Given the description of an element on the screen output the (x, y) to click on. 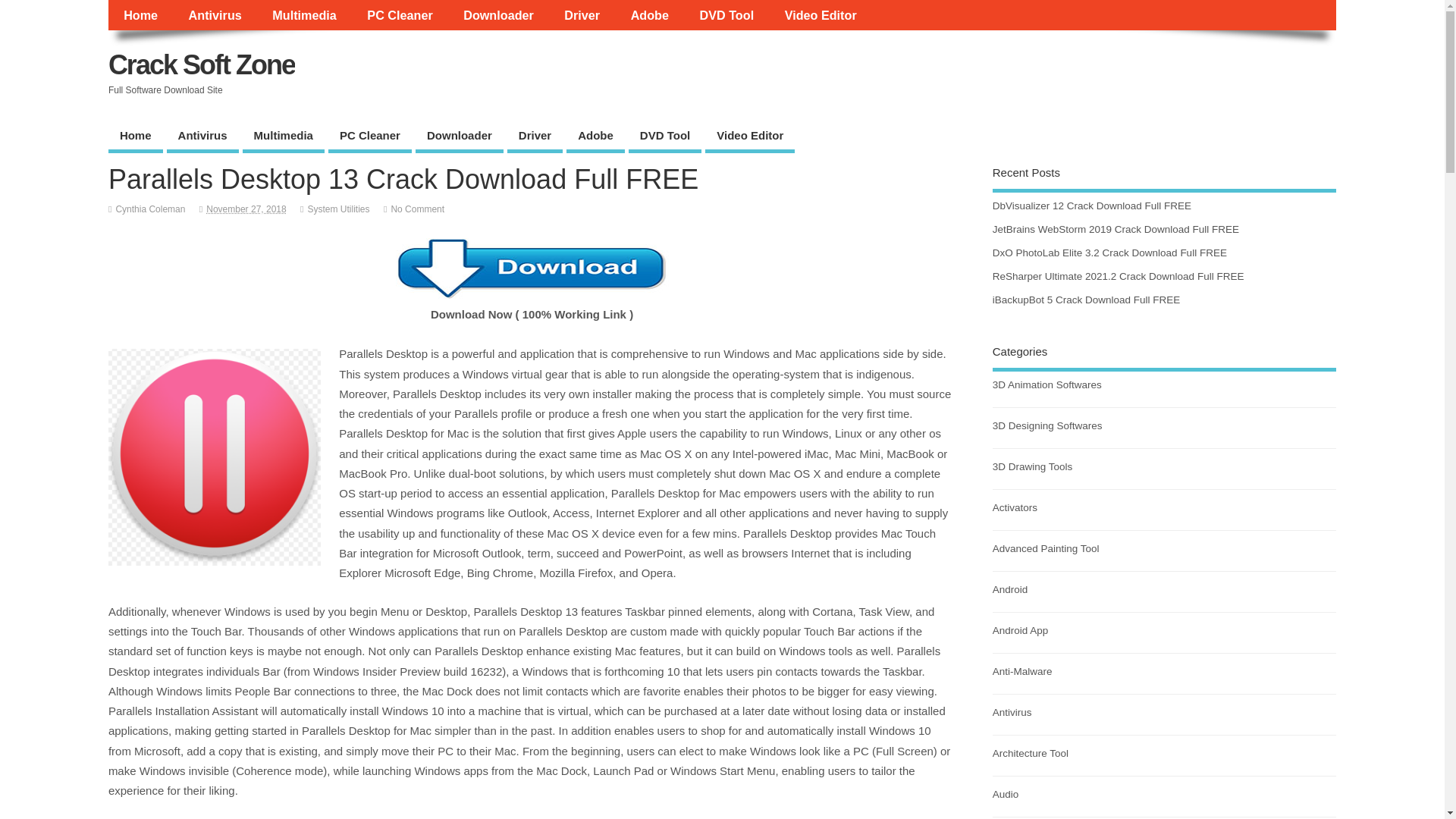
Home (135, 136)
Adobe (649, 15)
Downloader (458, 136)
DVD Tool (664, 136)
JetBrains WebStorm 2019 Crack Download Full FREE (1115, 229)
Posts by Cynthia Coleman (149, 208)
Multimedia (304, 15)
Video Editor (820, 15)
PC Cleaner (400, 15)
Cynthia Coleman (149, 208)
3D Drawing Tools (1032, 466)
Video Editor (749, 136)
Driver (581, 15)
Antivirus (215, 15)
ReSharper Ultimate 2021.2 Crack Download Full FREE (1118, 276)
